Given the description of an element on the screen output the (x, y) to click on. 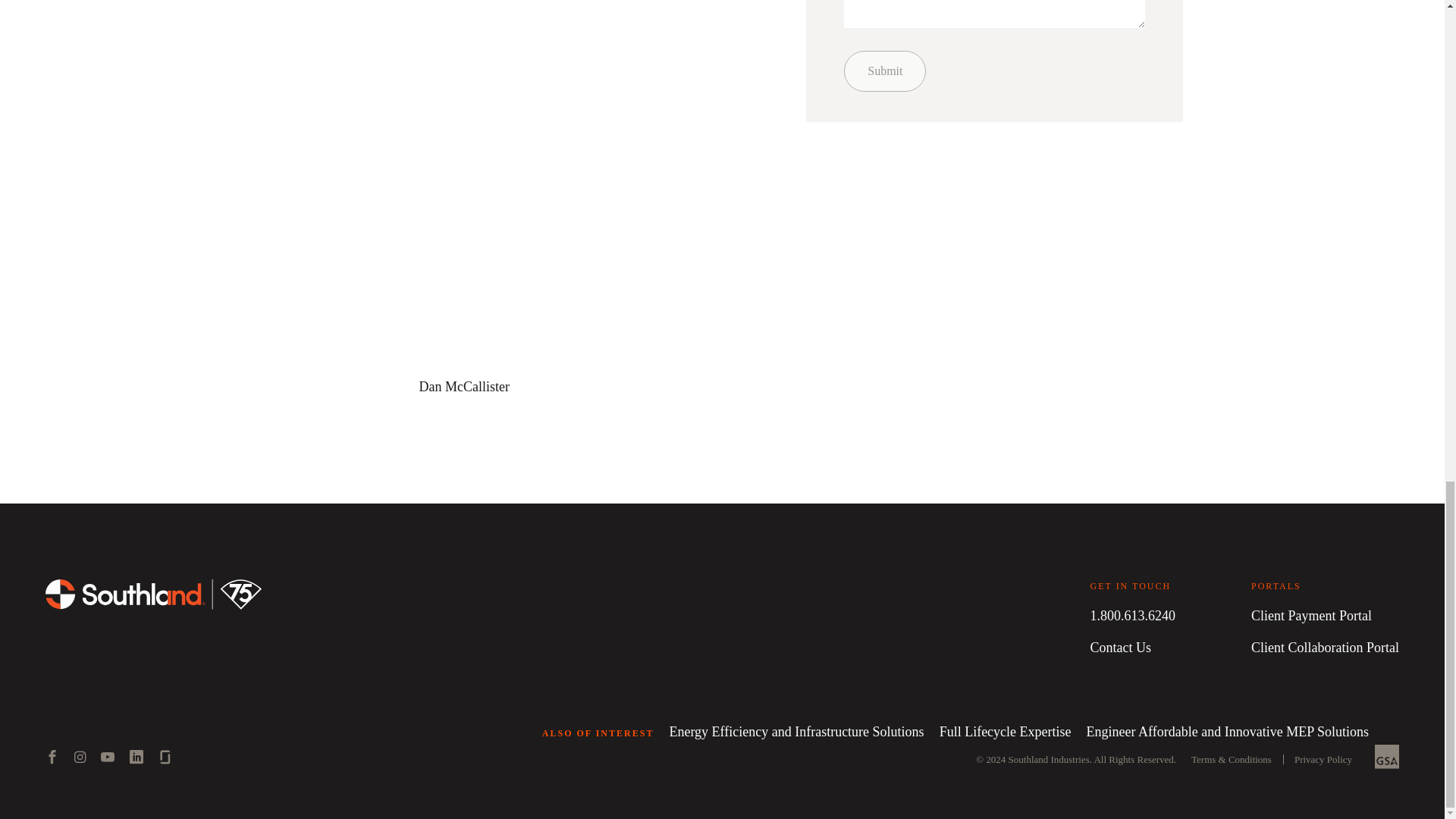
Submit (885, 70)
